Given the description of an element on the screen output the (x, y) to click on. 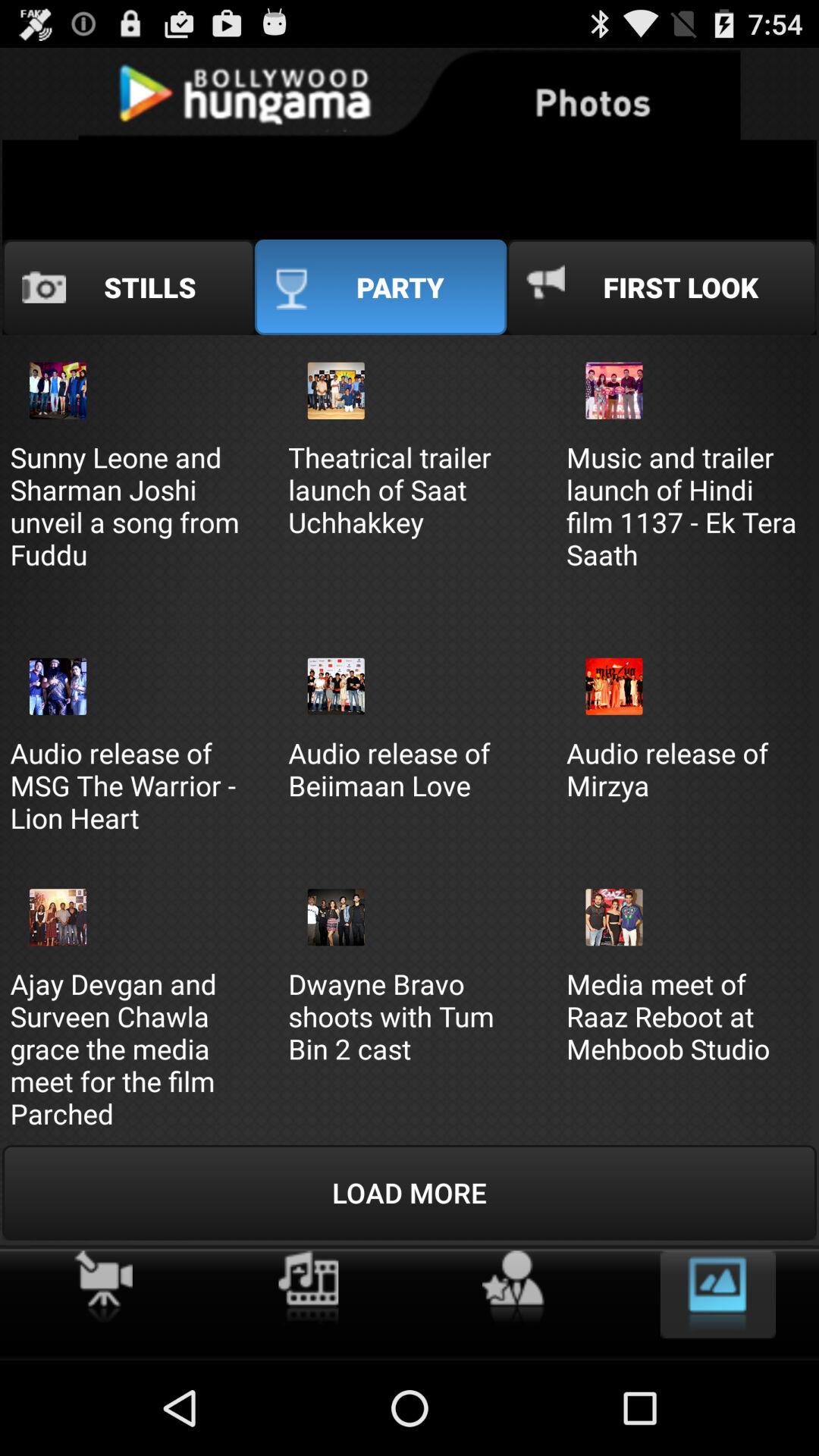
actors (512, 1287)
